Given the description of an element on the screen output the (x, y) to click on. 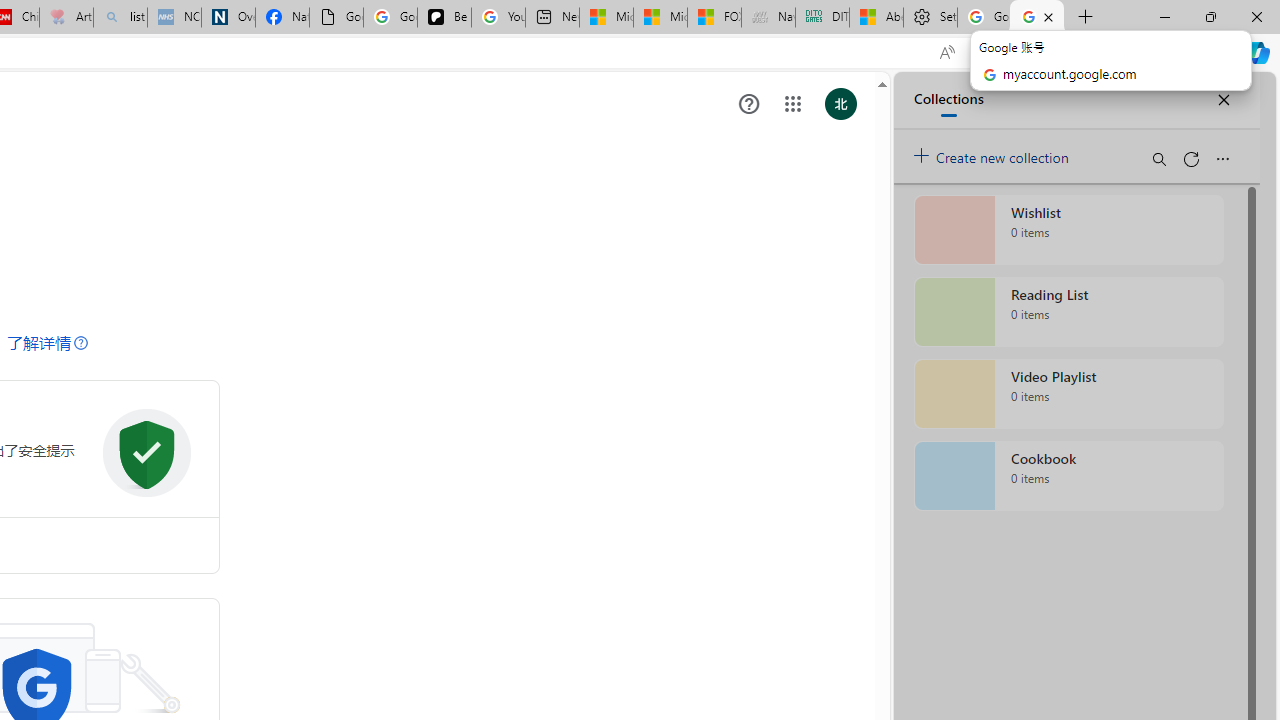
Arthritis: Ask Health Professionals - Sleeping (66, 17)
FOX News - MSN (714, 17)
Be Smart | creating Science videos | Patreon (444, 17)
Google Analytics Opt-out Browser Add-on Download Page (336, 17)
